Given the description of an element on the screen output the (x, y) to click on. 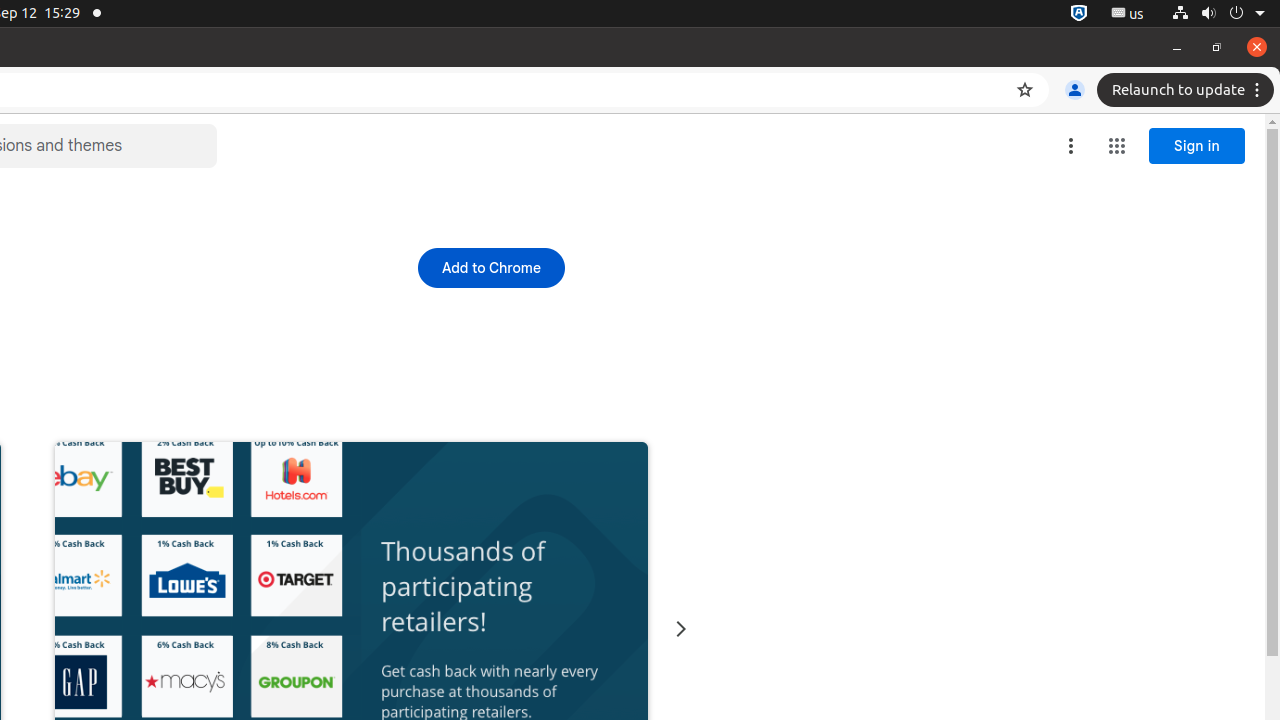
System Element type: menu (1218, 13)
